Given the description of an element on the screen output the (x, y) to click on. 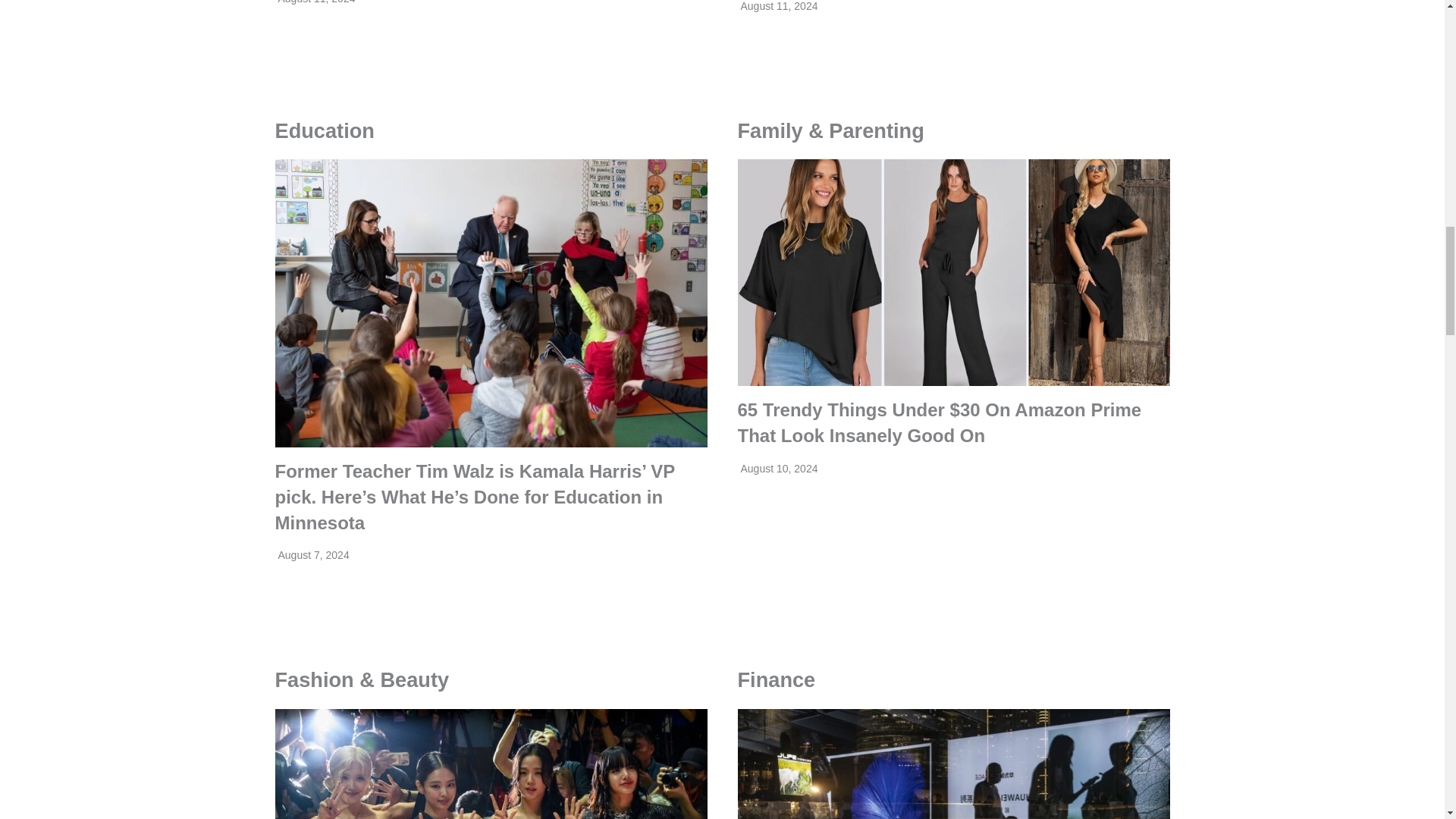
News 10 (490, 764)
News 8 (490, 302)
News 11 (952, 764)
News 9 (952, 271)
